Given the description of an element on the screen output the (x, y) to click on. 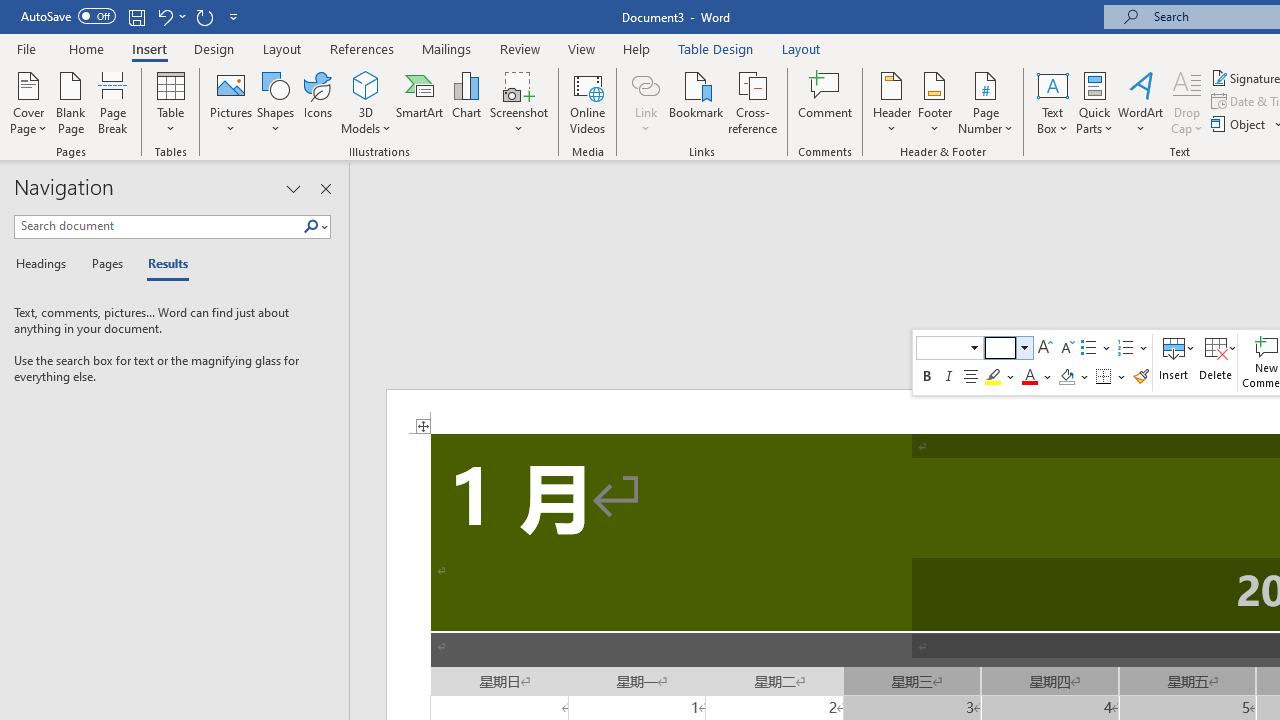
Font Color Red (1029, 376)
Comment (825, 102)
Chart... (466, 102)
Page Break (113, 102)
SmartArt... (419, 102)
Cover Page (28, 102)
Class: NetUIAnchor (1215, 361)
